Given the description of an element on the screen output the (x, y) to click on. 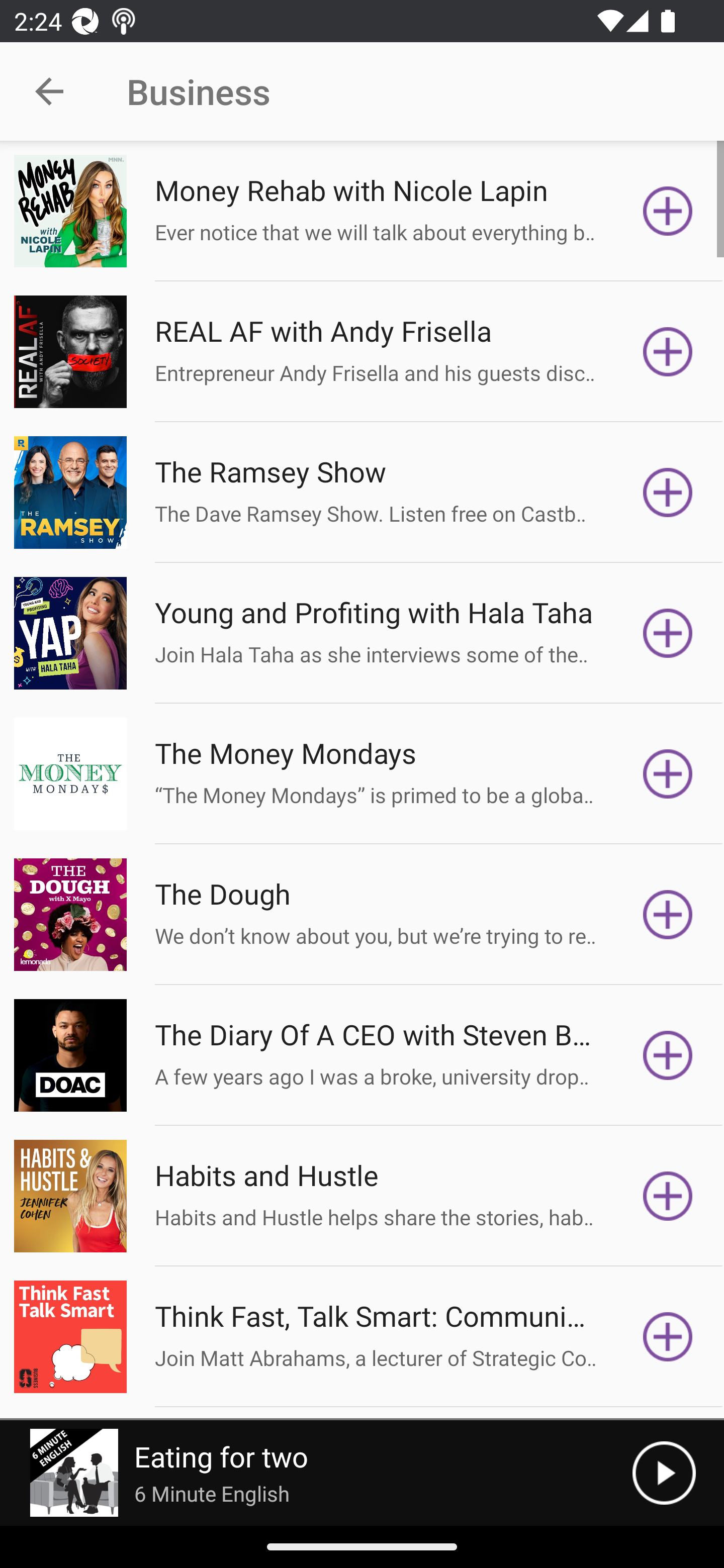
Navigate up (49, 91)
Subscribe (667, 211)
Subscribe (667, 350)
Subscribe (667, 491)
Subscribe (667, 633)
Subscribe (667, 773)
Subscribe (667, 913)
Subscribe (667, 1054)
Subscribe (667, 1195)
Subscribe (667, 1336)
Picture Eating for two 6 Minute English (316, 1472)
Play (663, 1472)
